Given the description of an element on the screen output the (x, y) to click on. 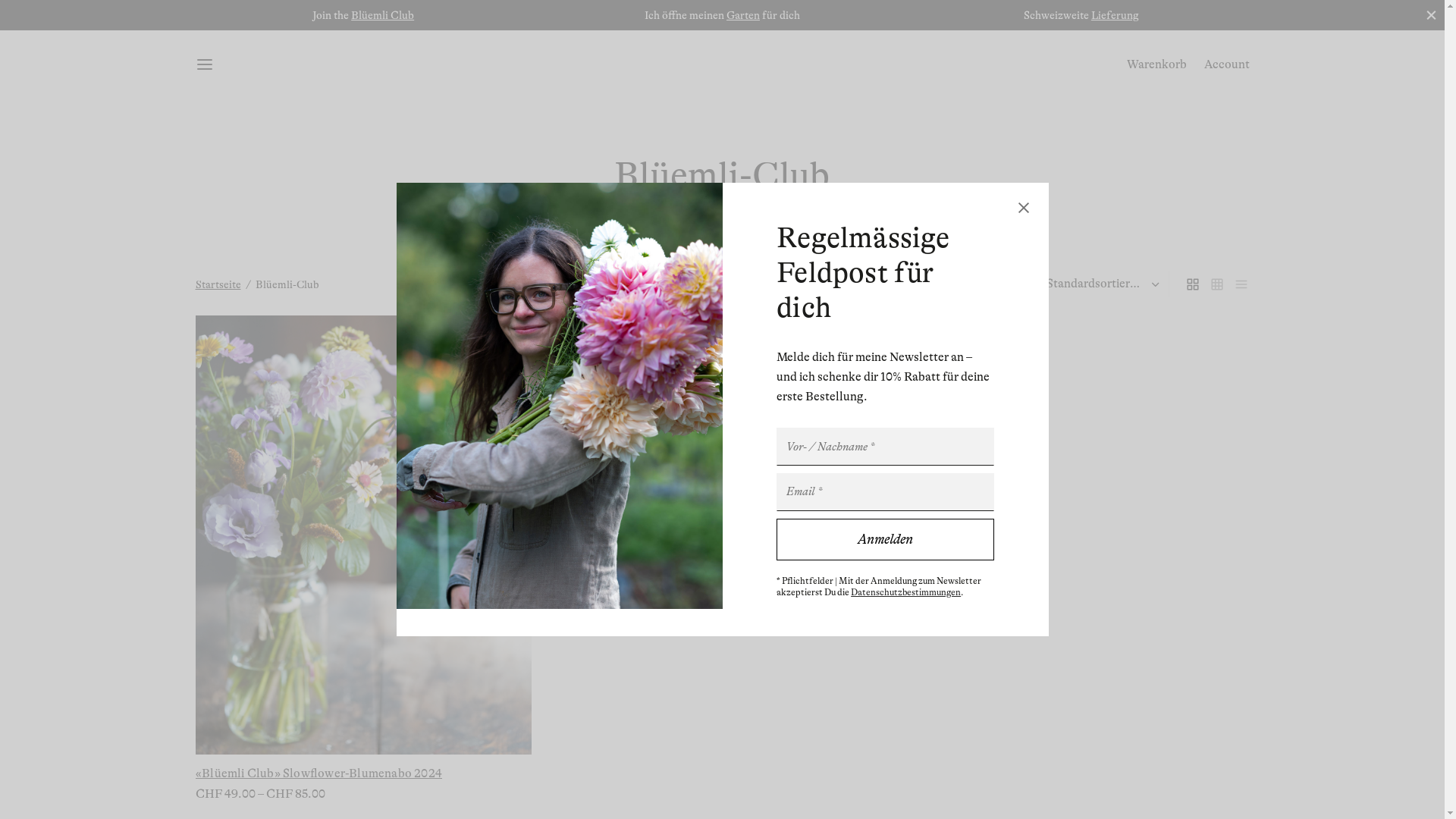
Datenschutzbestimmungen Element type: text (905, 591)
Lieferung Element type: text (1115, 15)
Anmelden Element type: text (885, 539)
Startseite Element type: text (218, 284)
Warenkorb Element type: text (1156, 64)
Account Element type: text (1226, 64)
Close (Esc) Element type: hover (1023, 207)
Garten Element type: text (742, 15)
